Given the description of an element on the screen output the (x, y) to click on. 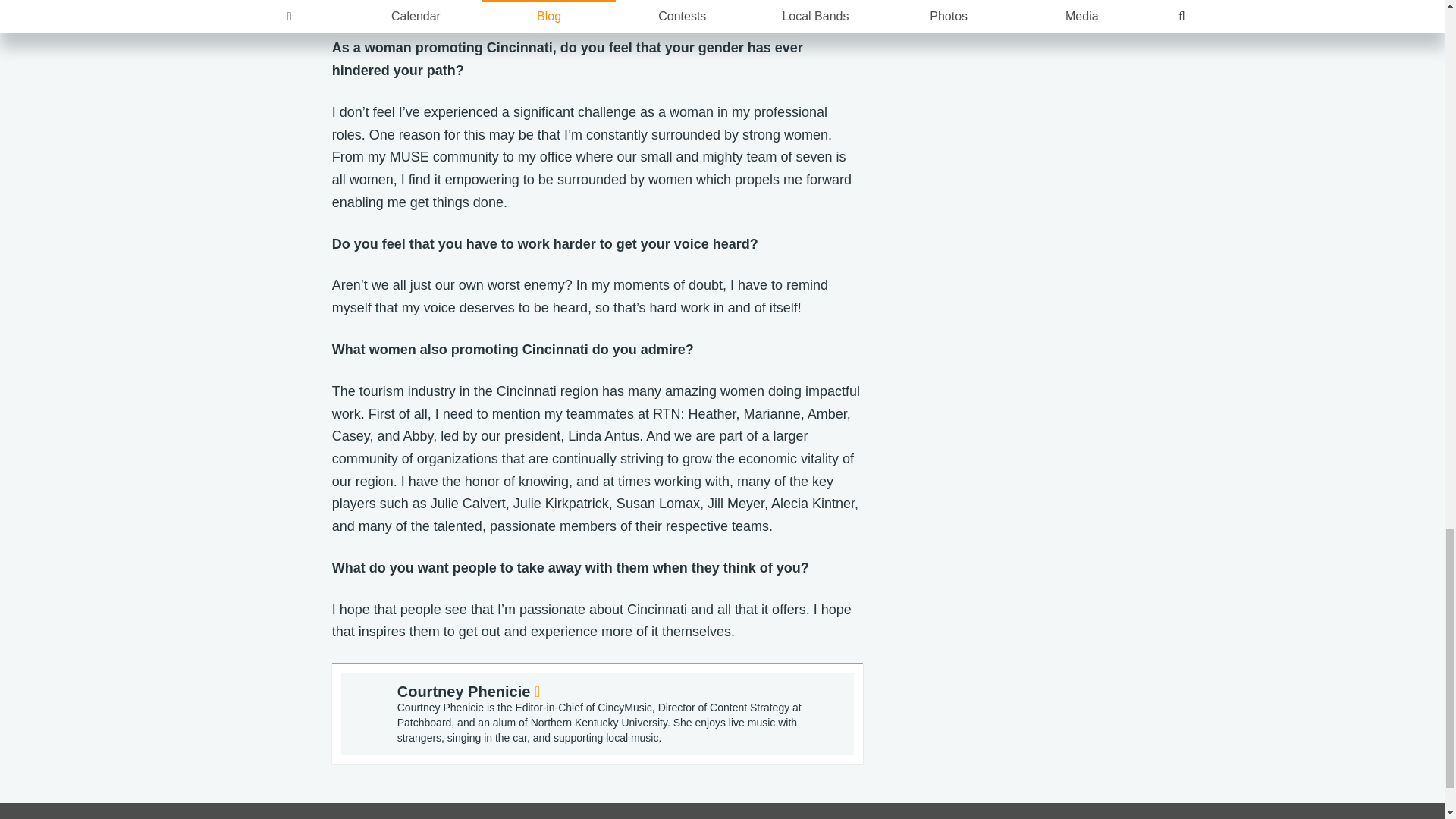
Courtney Phenicie  (468, 691)
